Given the description of an element on the screen output the (x, y) to click on. 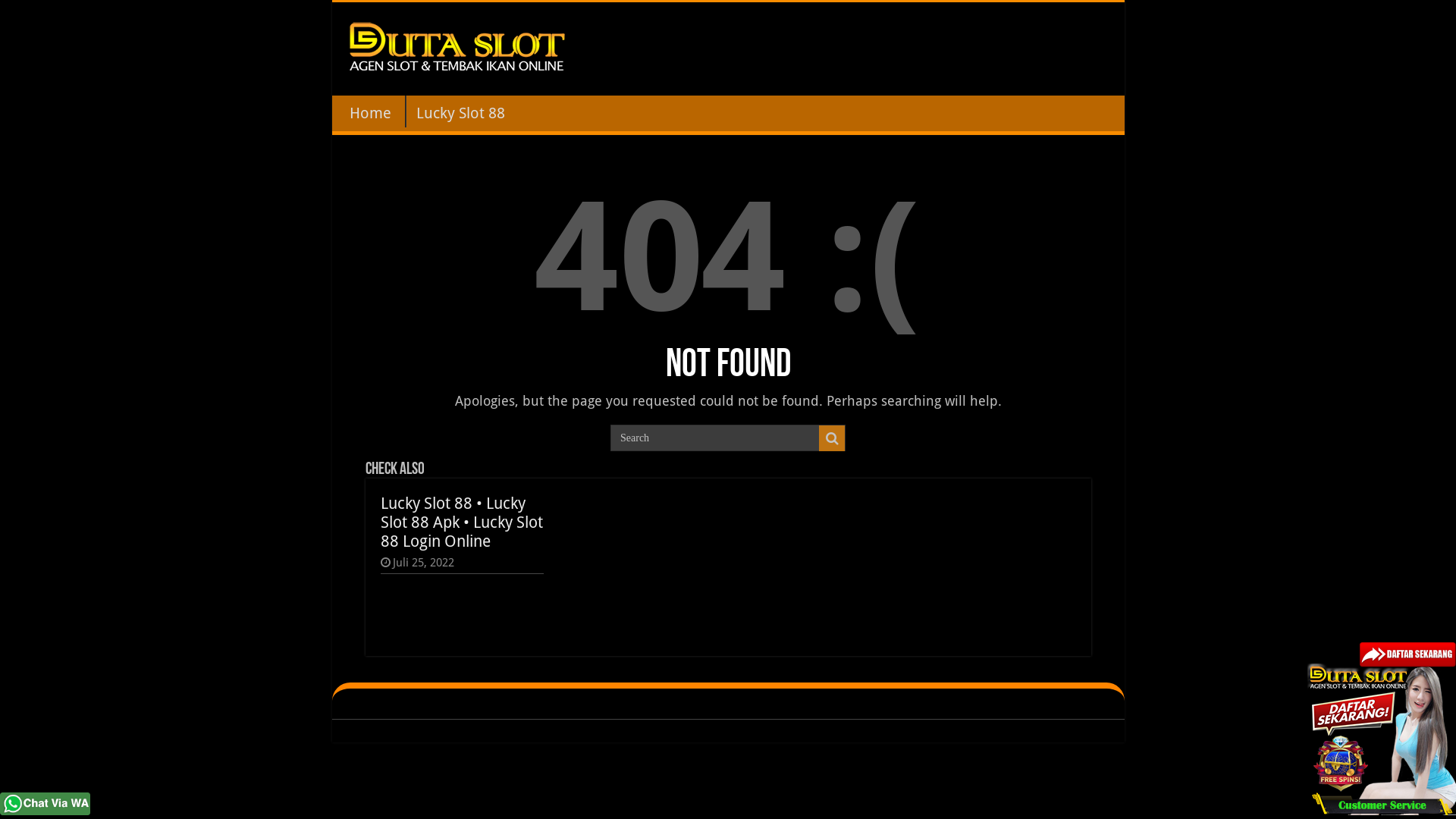
WA DutaSlot Element type: hover (45, 802)
Lucky Slot 88 Element type: text (459, 111)
Home Element type: text (370, 111)
Search Element type: text (831, 438)
